Given the description of an element on the screen output the (x, y) to click on. 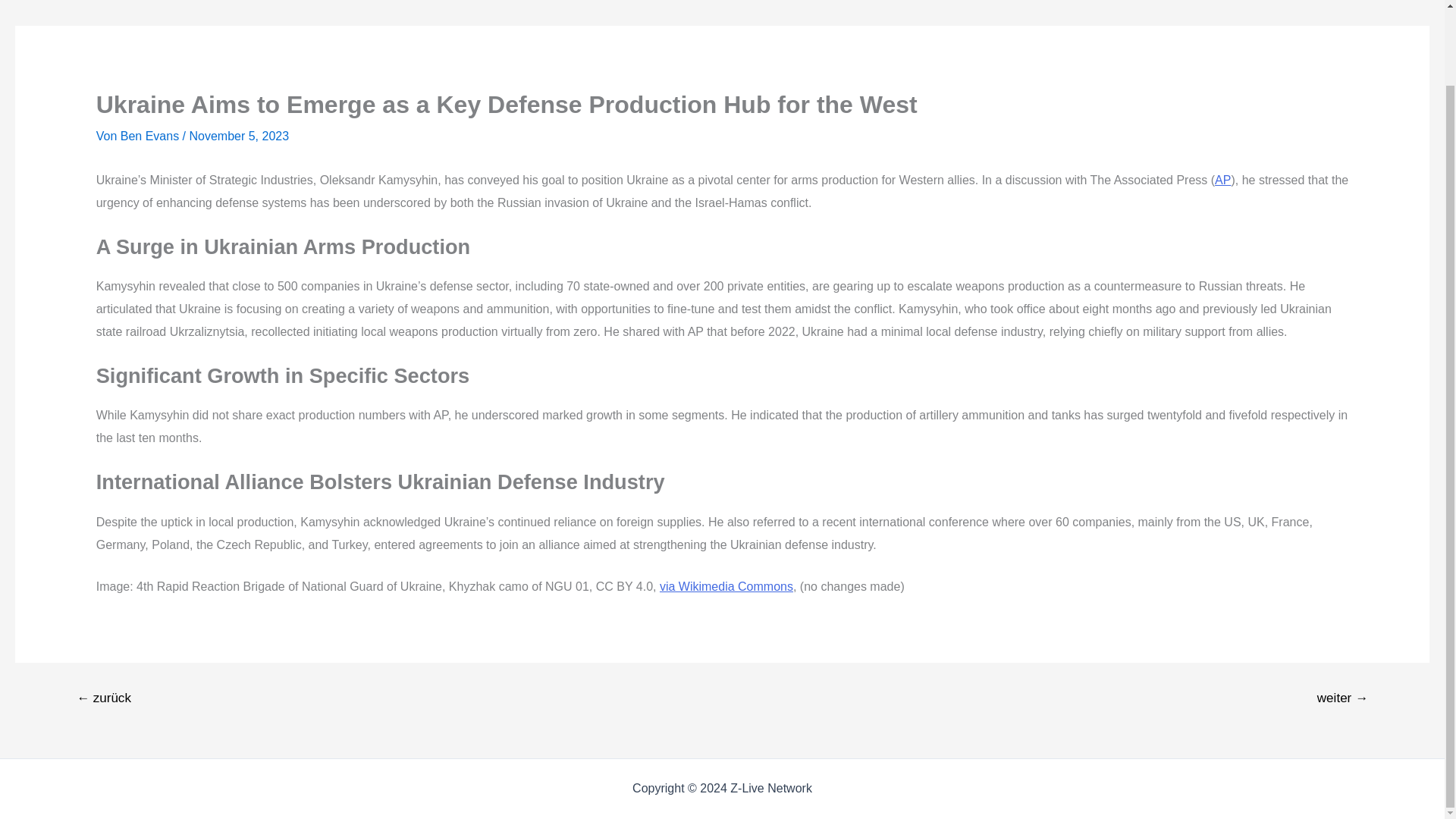
via Wikimedia Commons (726, 585)
Ben Evans (151, 135)
AP (1222, 179)
